Given the description of an element on the screen output the (x, y) to click on. 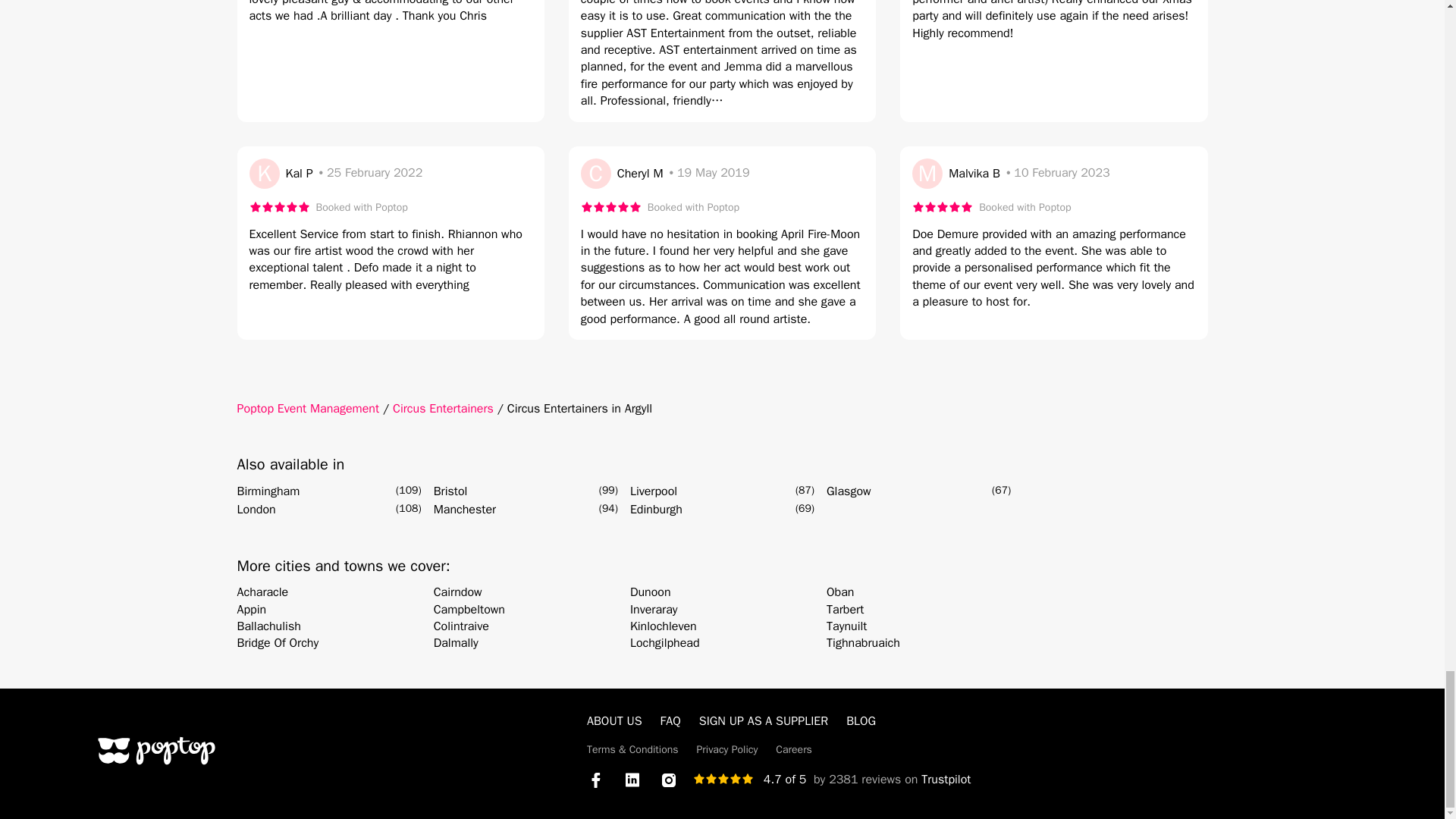
Poptop Event Management (306, 408)
BLOG (860, 720)
Bristol (450, 491)
Circus Entertainers (443, 408)
ABOUT US (614, 720)
Manchester (464, 509)
Glasgow (848, 491)
Liverpool (653, 491)
Careers (794, 748)
London (255, 509)
